Given the description of an element on the screen output the (x, y) to click on. 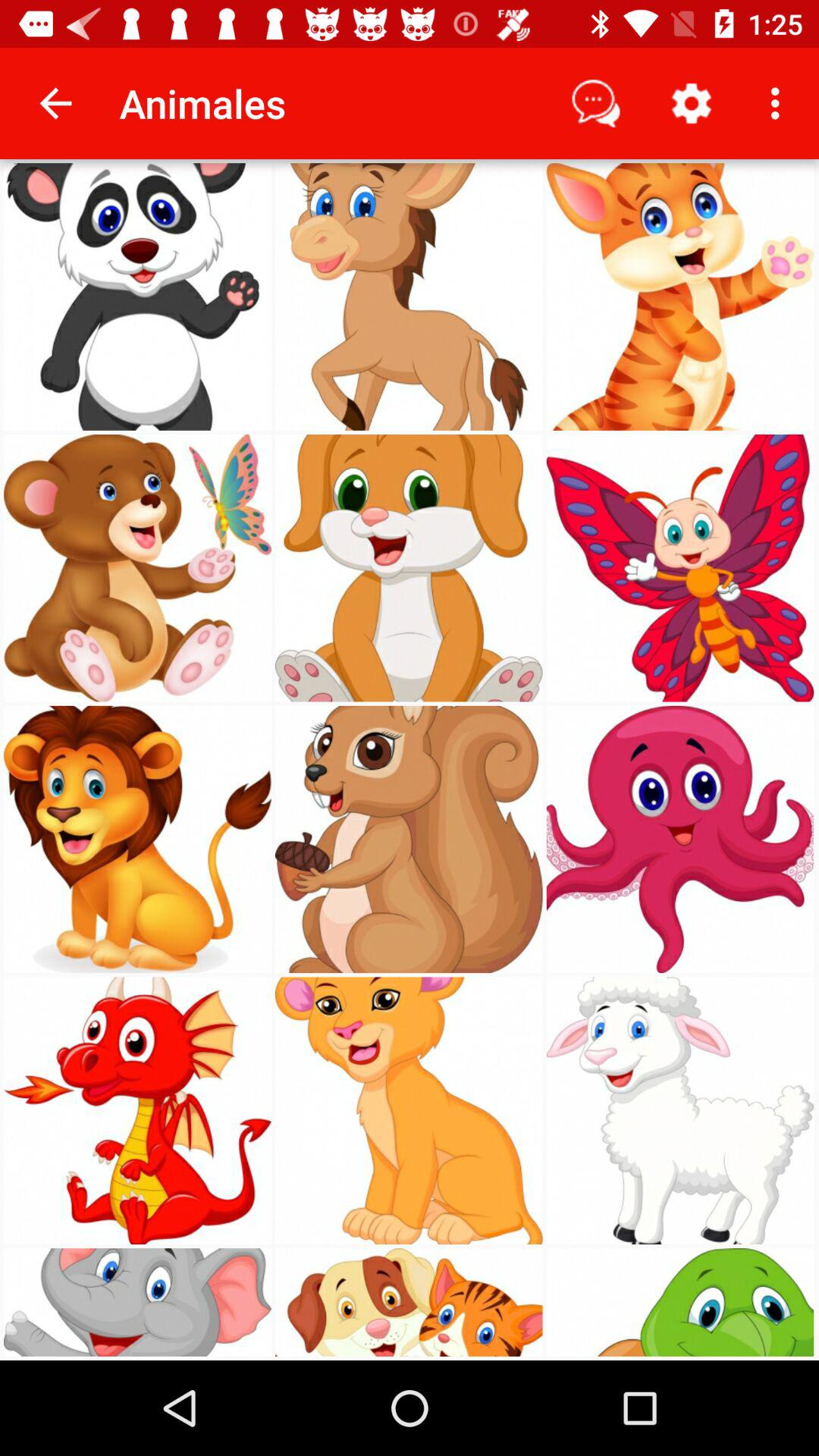
select item to the left of animales item (55, 103)
